Given the description of an element on the screen output the (x, y) to click on. 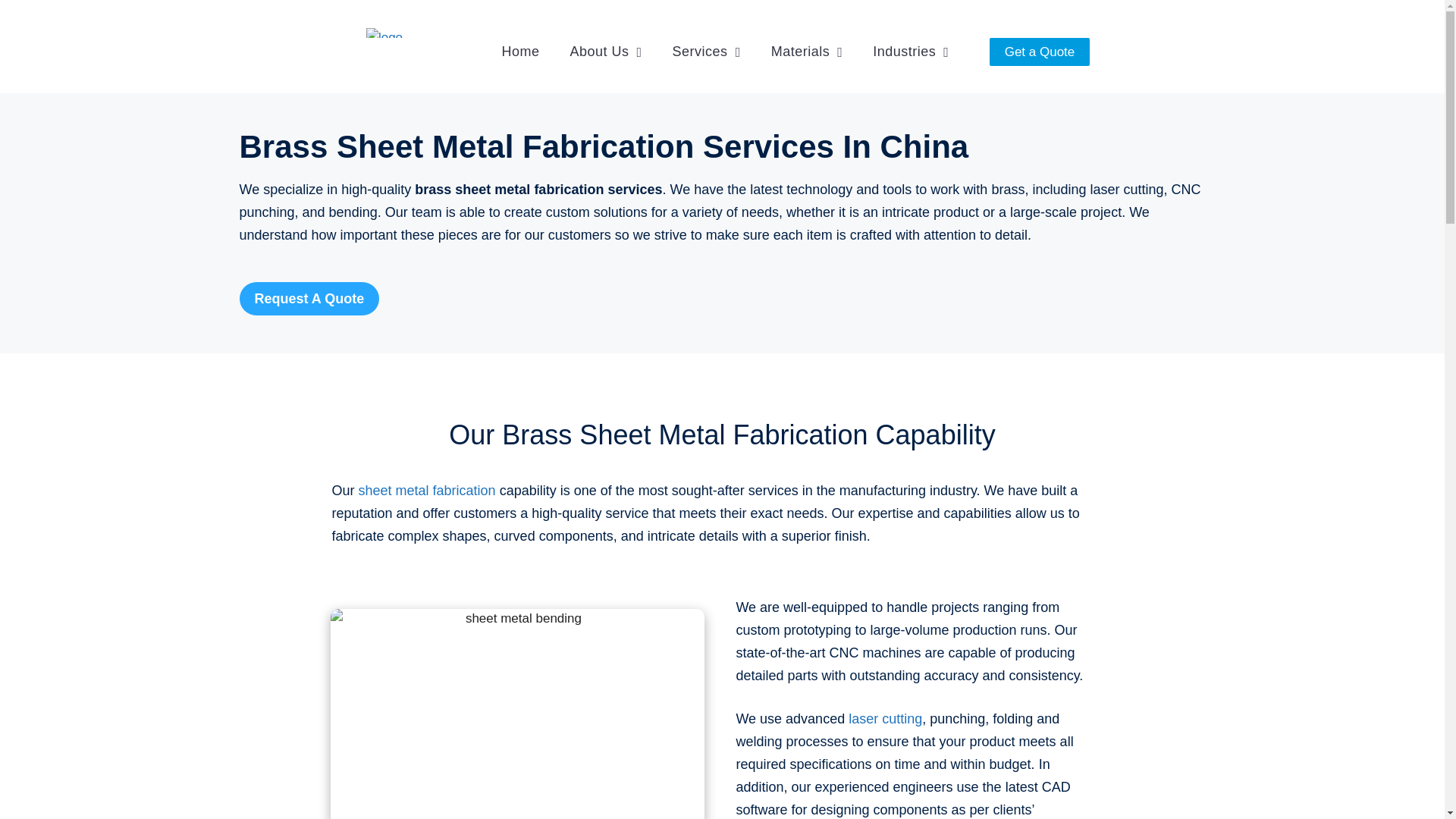
Materials (807, 52)
Services (706, 52)
Home (520, 52)
About Us (605, 52)
